Given the description of an element on the screen output the (x, y) to click on. 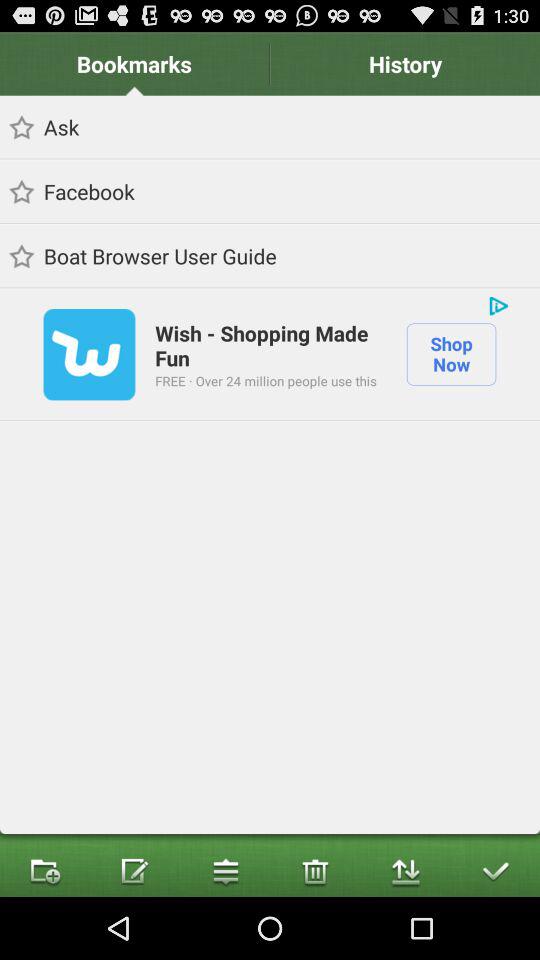
turn off item below free over 24 item (315, 870)
